Given the description of an element on the screen output the (x, y) to click on. 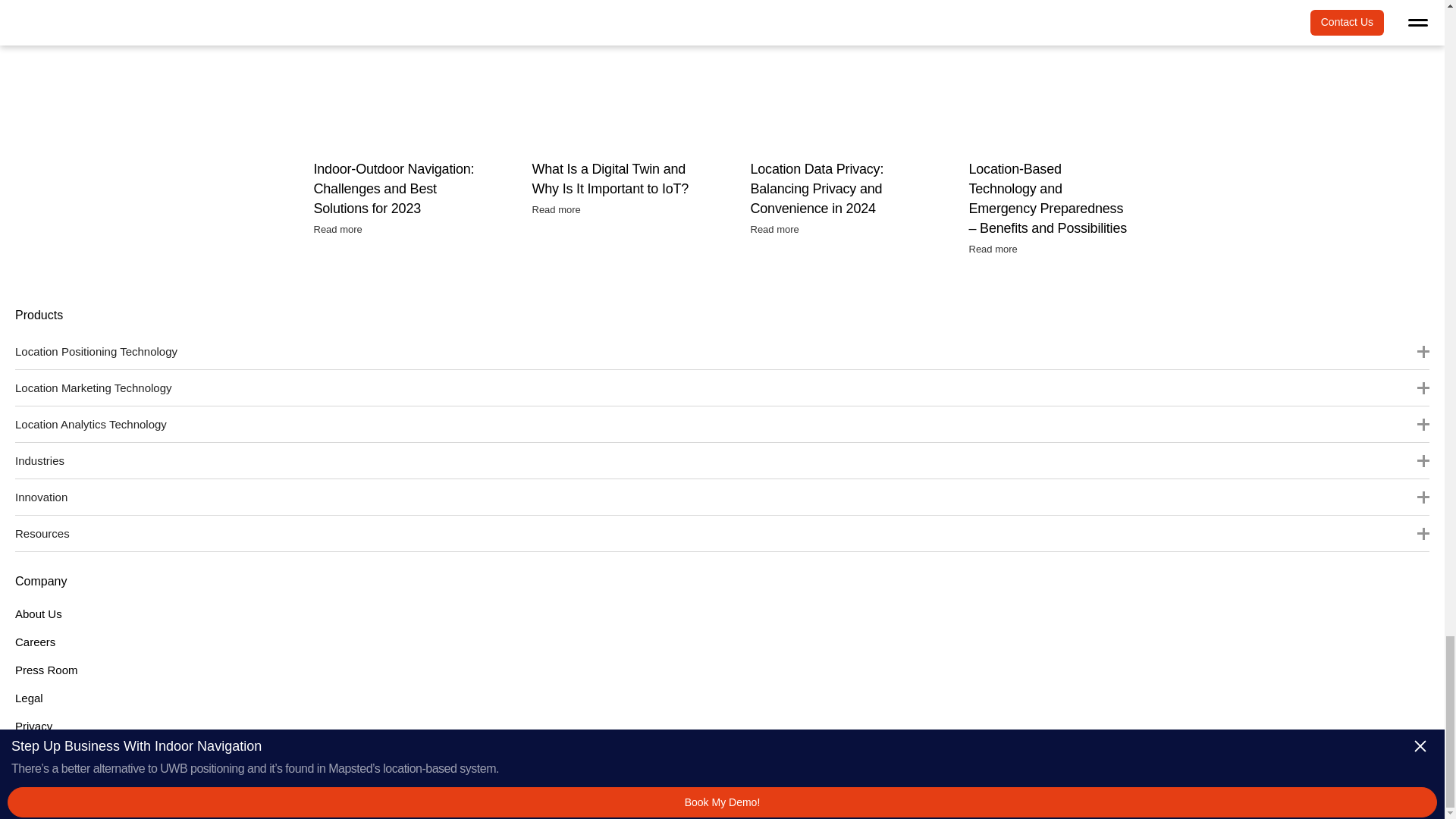
Location Positioning Technology (721, 351)
Location Marketing Technology (721, 387)
